Given the description of an element on the screen output the (x, y) to click on. 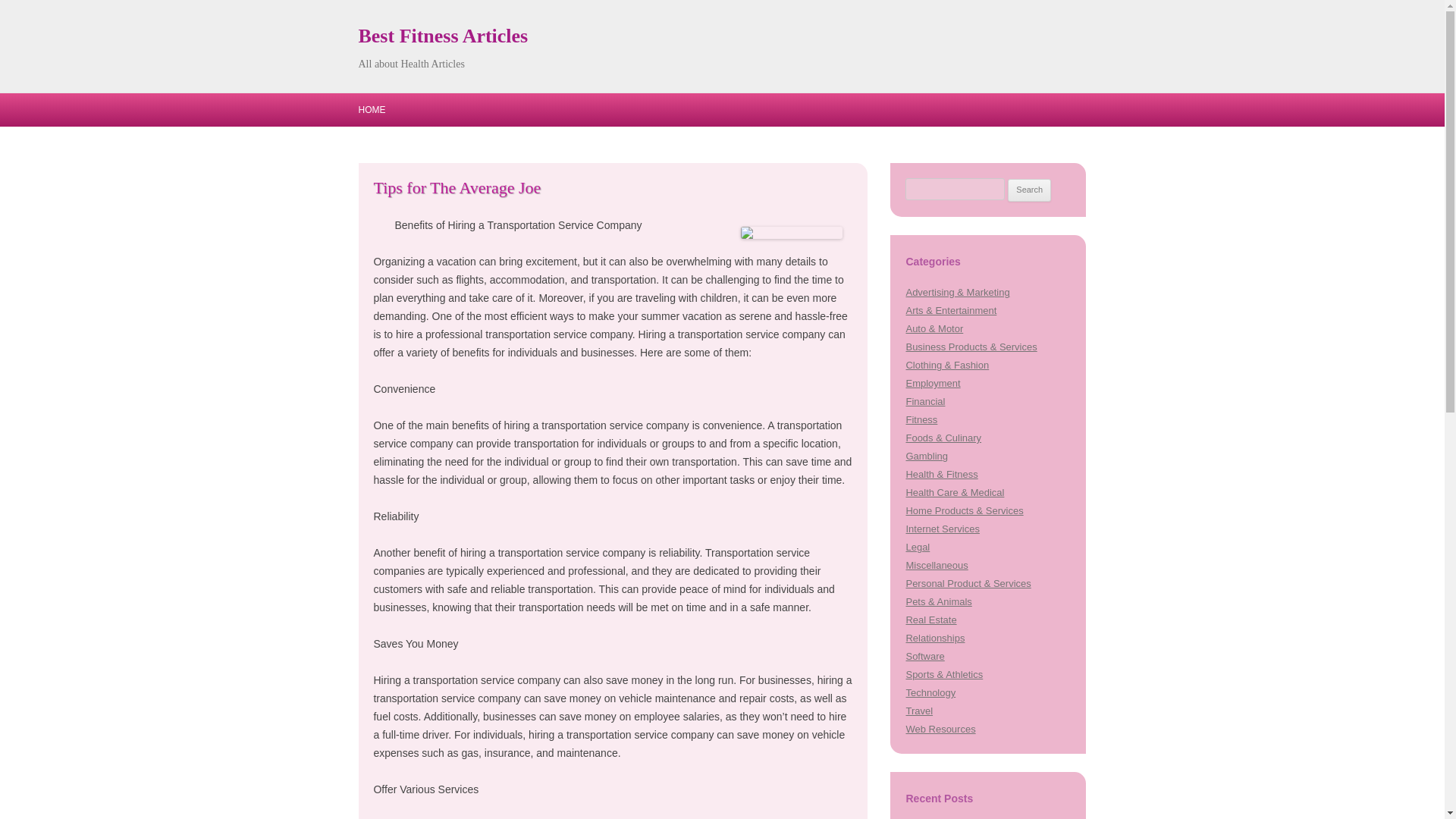
Miscellaneous (936, 564)
Employment (932, 383)
Gambling (926, 455)
Best Fitness Articles (442, 36)
Travel (919, 710)
Technology (930, 692)
Real Estate (930, 619)
Fitness (921, 419)
Relationships (934, 637)
Best Fitness Articles (442, 36)
Web Resources (940, 728)
Search (1029, 190)
Software (924, 655)
